Given the description of an element on the screen output the (x, y) to click on. 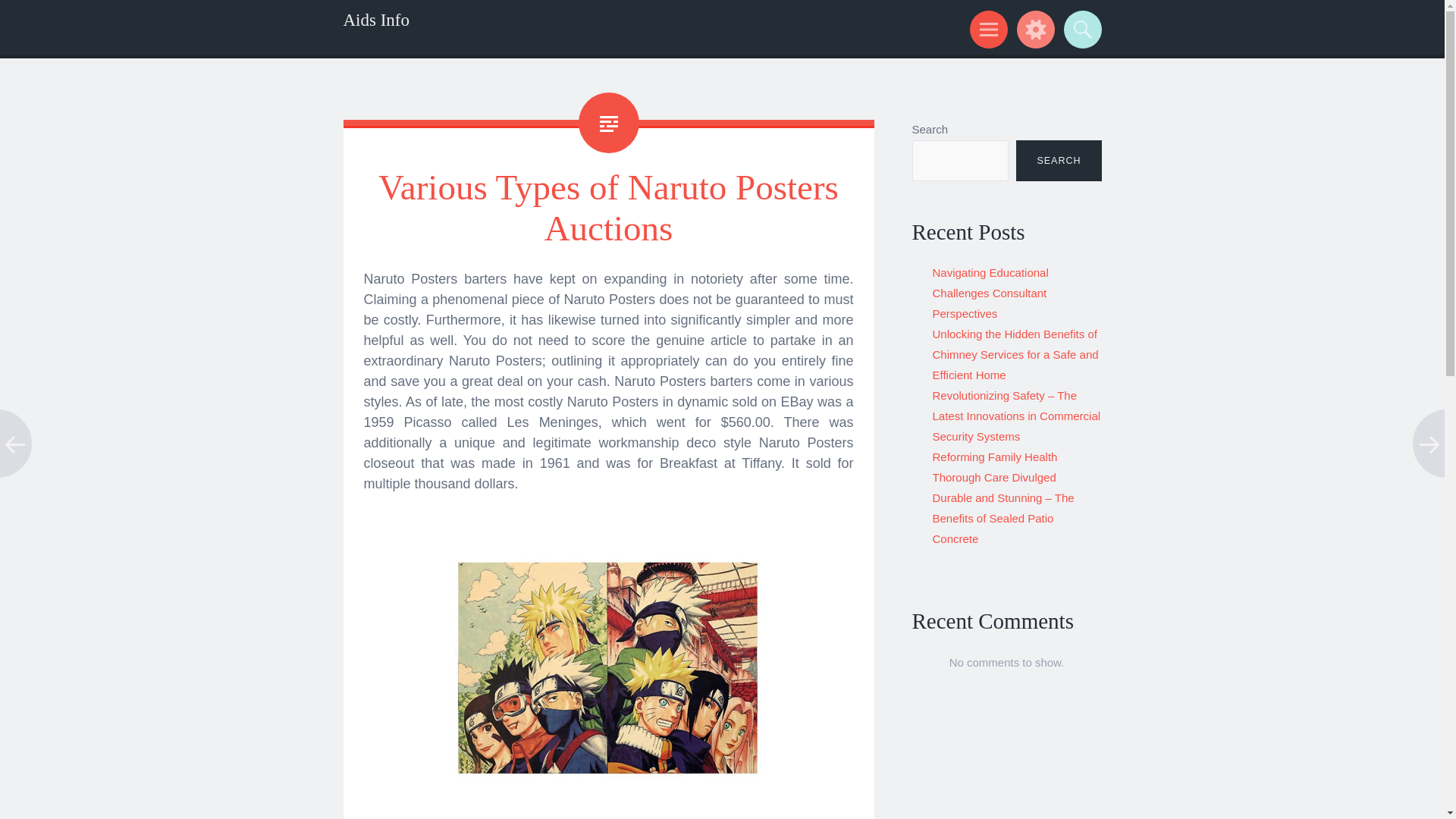
Aids Info (375, 19)
Menu (985, 29)
Search (1080, 29)
Widgets (1032, 29)
